Given the description of an element on the screen output the (x, y) to click on. 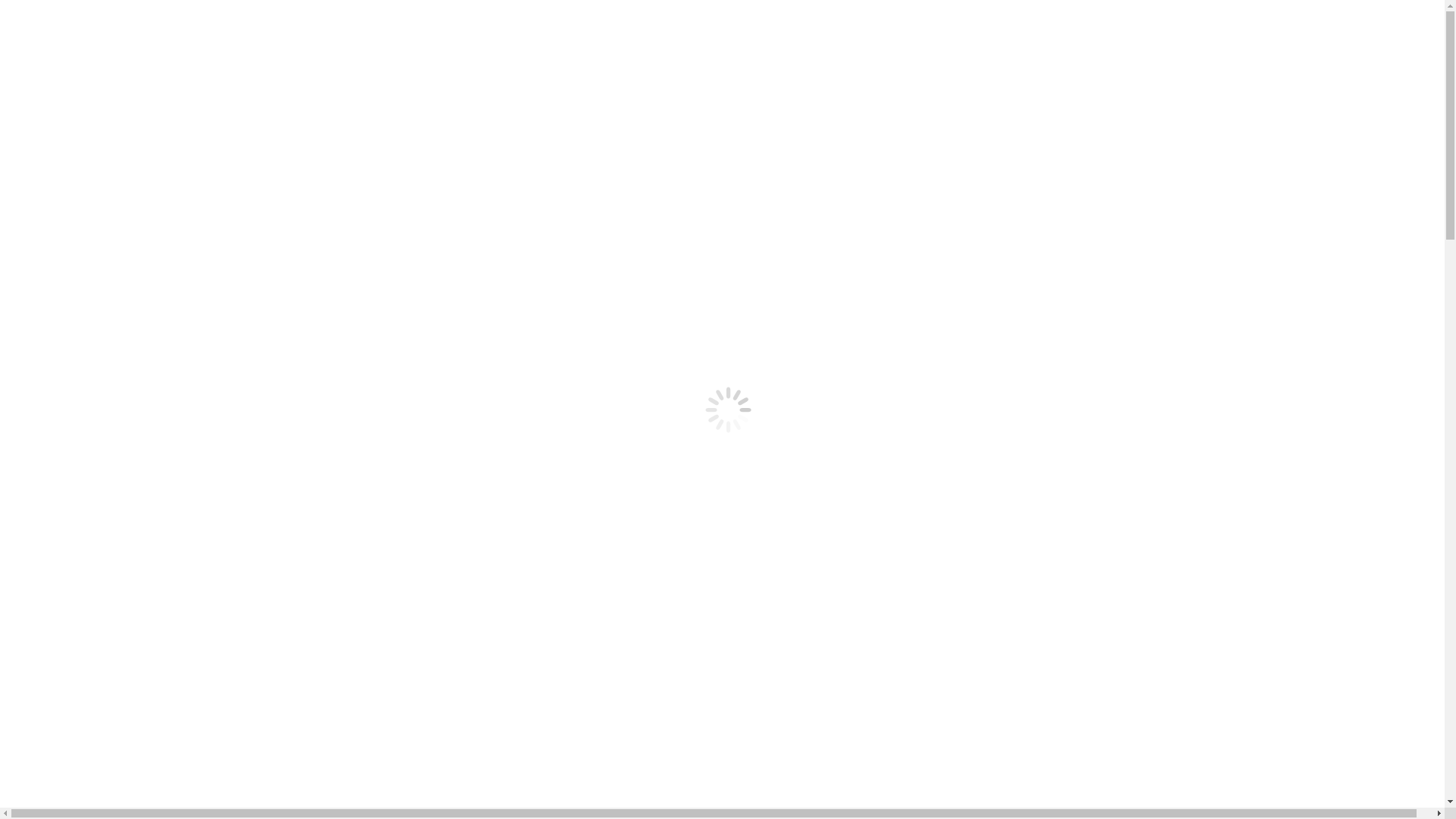
Soumission Element type: text (64, 186)
Soumission Element type: text (64, 106)
Accueil Element type: text (55, 78)
Accueil Element type: text (55, 159)
Skip to content Element type: text (42, 12)
Conduits de ventilation Element type: text (92, 213)
Emplois Element type: text (56, 200)
Conduits de ventilation Element type: text (92, 133)
Emplois Element type: text (56, 119)
